Given the description of an element on the screen output the (x, y) to click on. 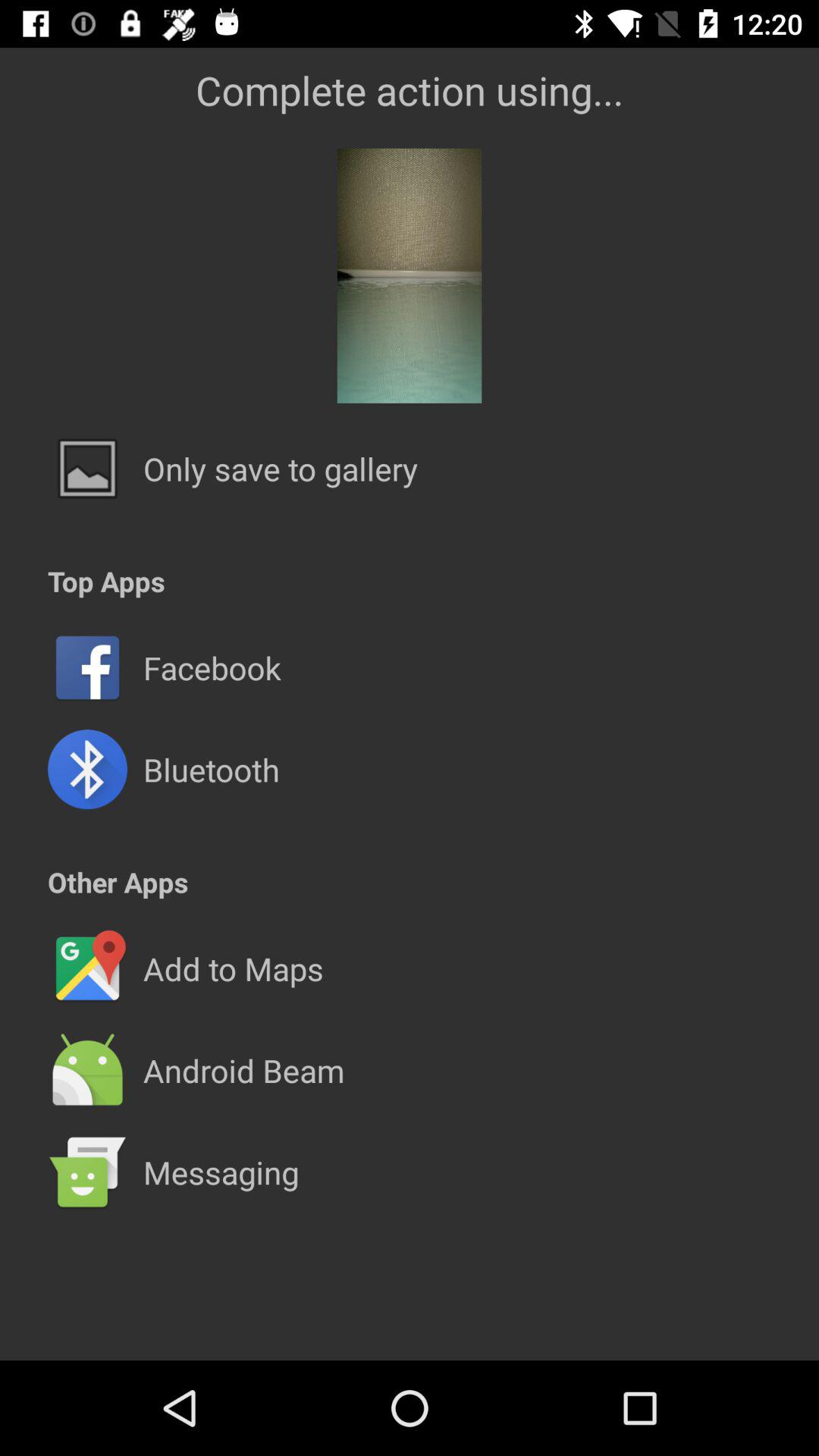
turn on item above top apps icon (280, 468)
